Given the description of an element on the screen output the (x, y) to click on. 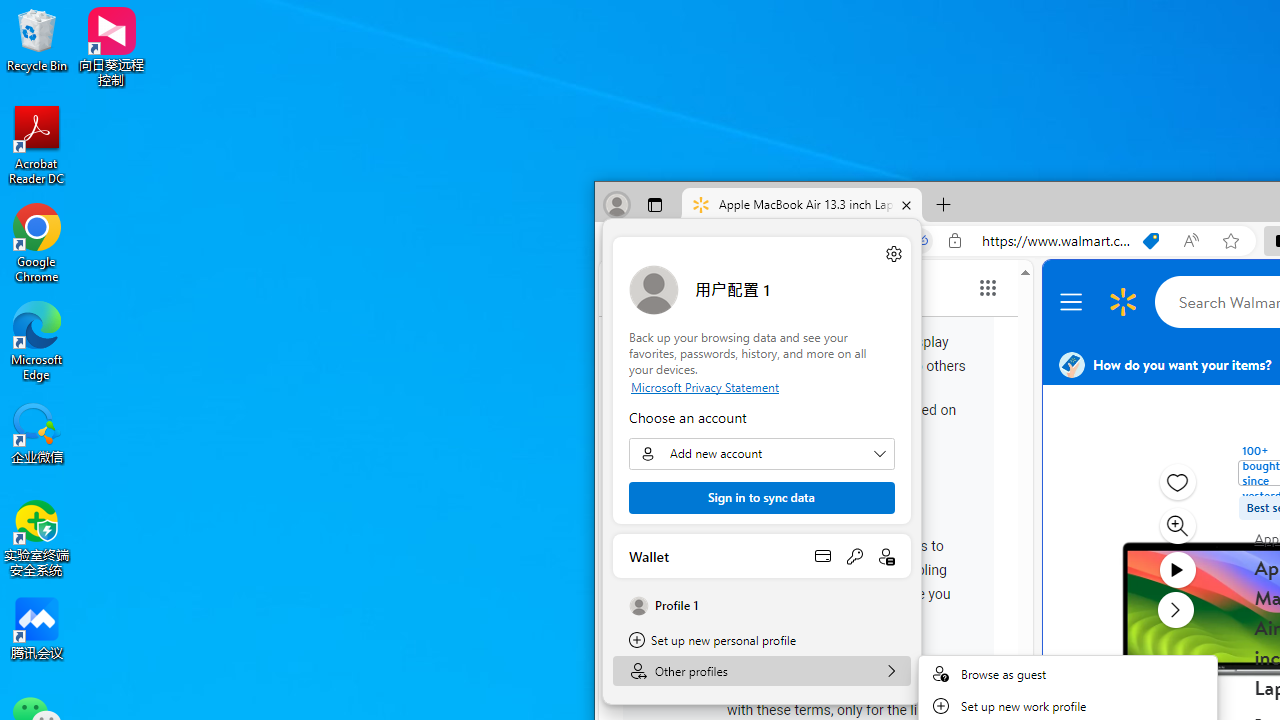
Sign in to sync data (761, 497)
Open personal info (886, 555)
View video (1176, 570)
Choose an account (761, 453)
Wallet (762, 556)
Open passwords (854, 555)
Zoom image modal (1176, 526)
Open payment methods (822, 555)
Other profiles (762, 670)
Profile 1 (762, 606)
next media item (1175, 609)
Walmart Homepage (1123, 301)
Microsoft Privacy Statement (761, 386)
